Given the description of an element on the screen output the (x, y) to click on. 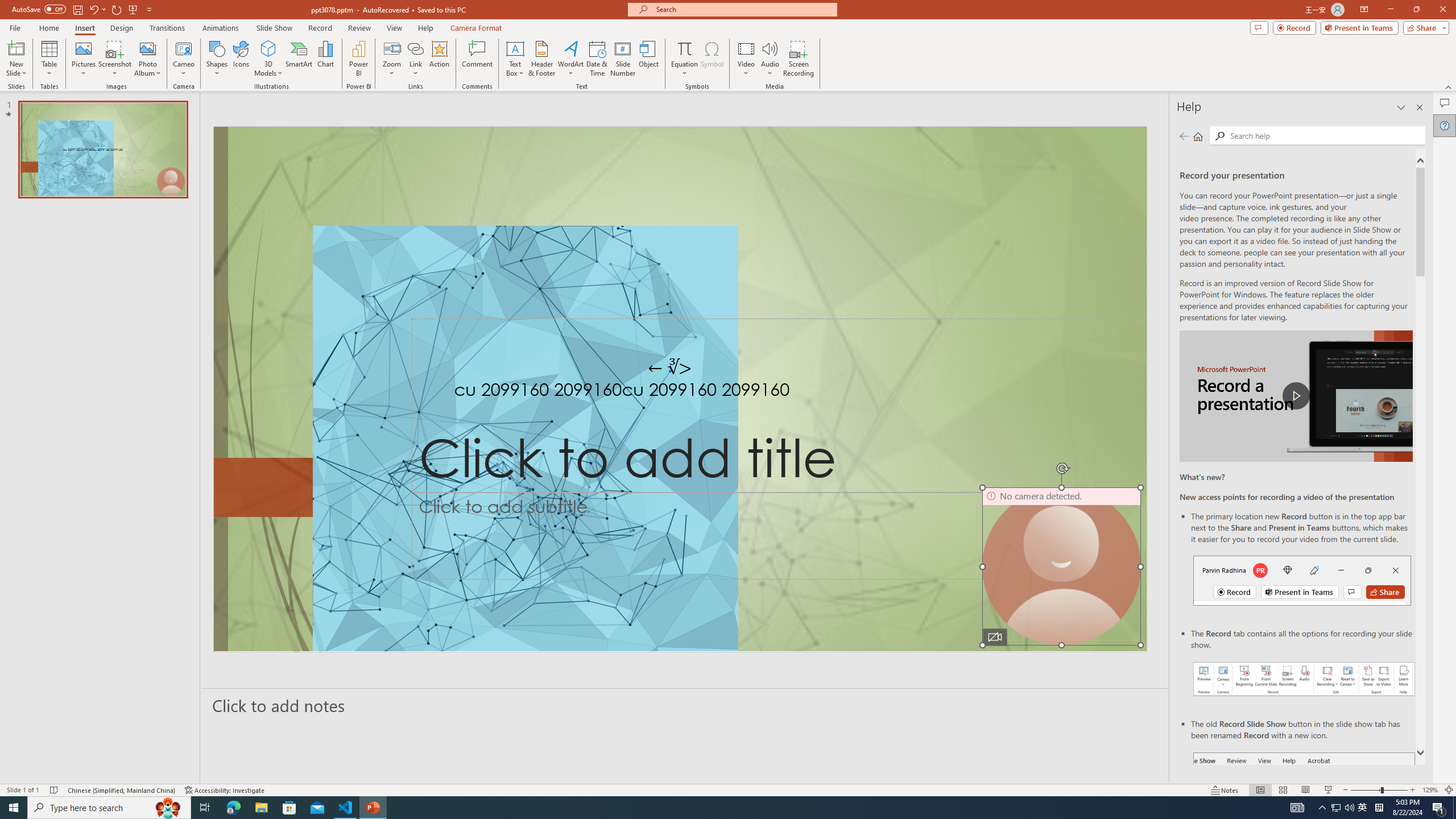
Link (415, 58)
Symbol... (711, 58)
Icons (240, 58)
Draw Horizontal Text Box (515, 48)
Header & Footer... (541, 58)
Chart... (325, 58)
